Given the description of an element on the screen output the (x, y) to click on. 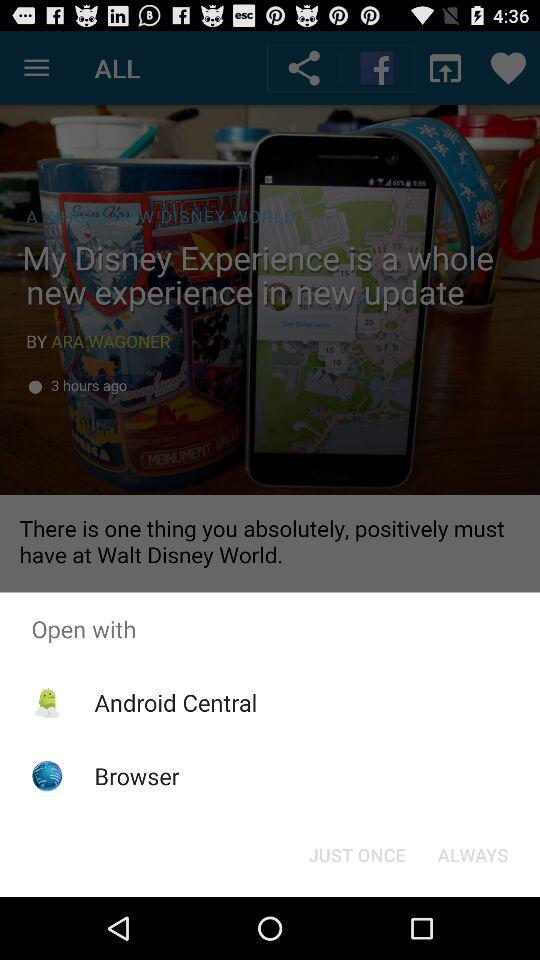
swipe until the always (472, 854)
